Given the description of an element on the screen output the (x, y) to click on. 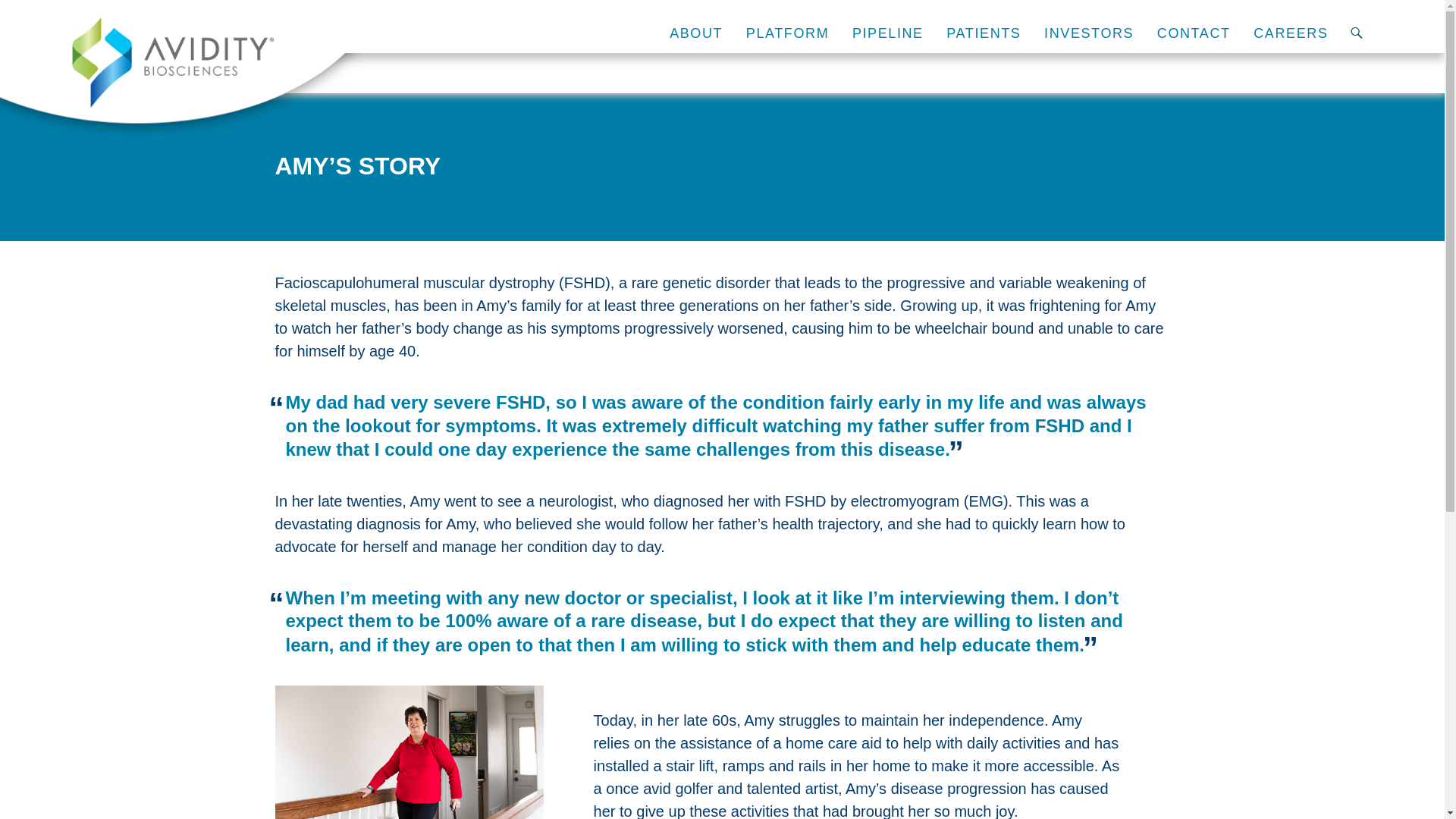
PLATFORM (787, 33)
Avidity Biosciences (173, 62)
CAREERS (1290, 33)
ABOUT (696, 33)
PATIENTS (983, 33)
INVESTORS (1088, 33)
PIPELINE (888, 33)
CONTACT (1194, 33)
